Given the description of an element on the screen output the (x, y) to click on. 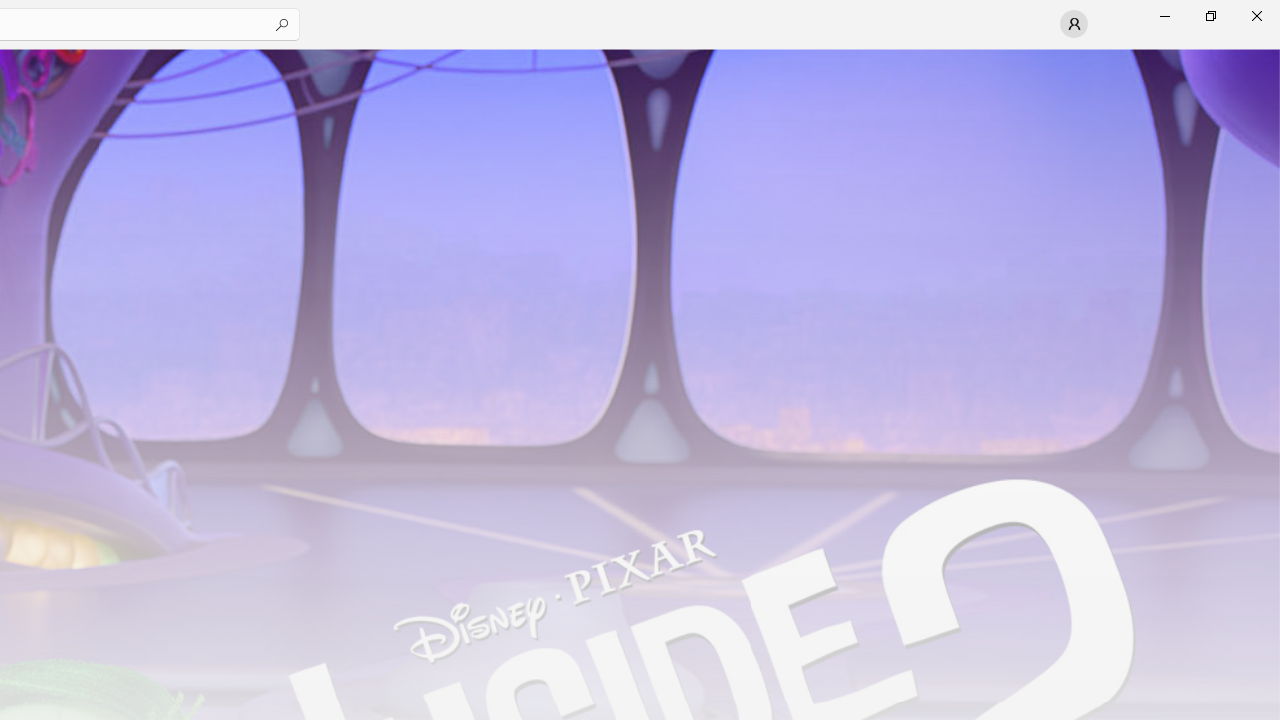
User profile (1073, 24)
Restore Microsoft Store (1210, 15)
Minimize Microsoft Store (1164, 15)
Close Microsoft Store (1256, 15)
